Given the description of an element on the screen output the (x, y) to click on. 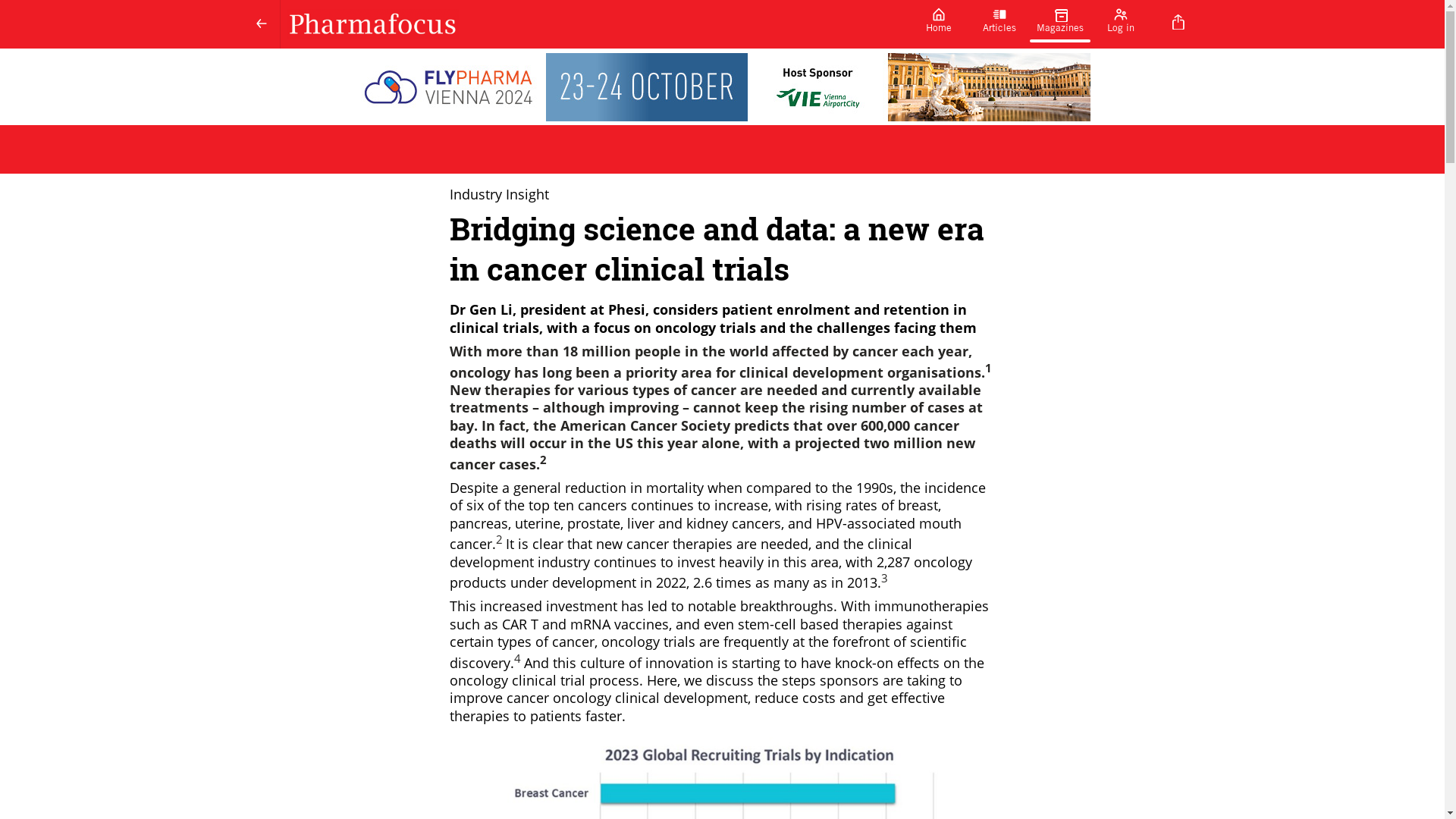
Log in (1120, 24)
Articles (999, 24)
Home (938, 24)
Magazines (1059, 24)
